Given the description of an element on the screen output the (x, y) to click on. 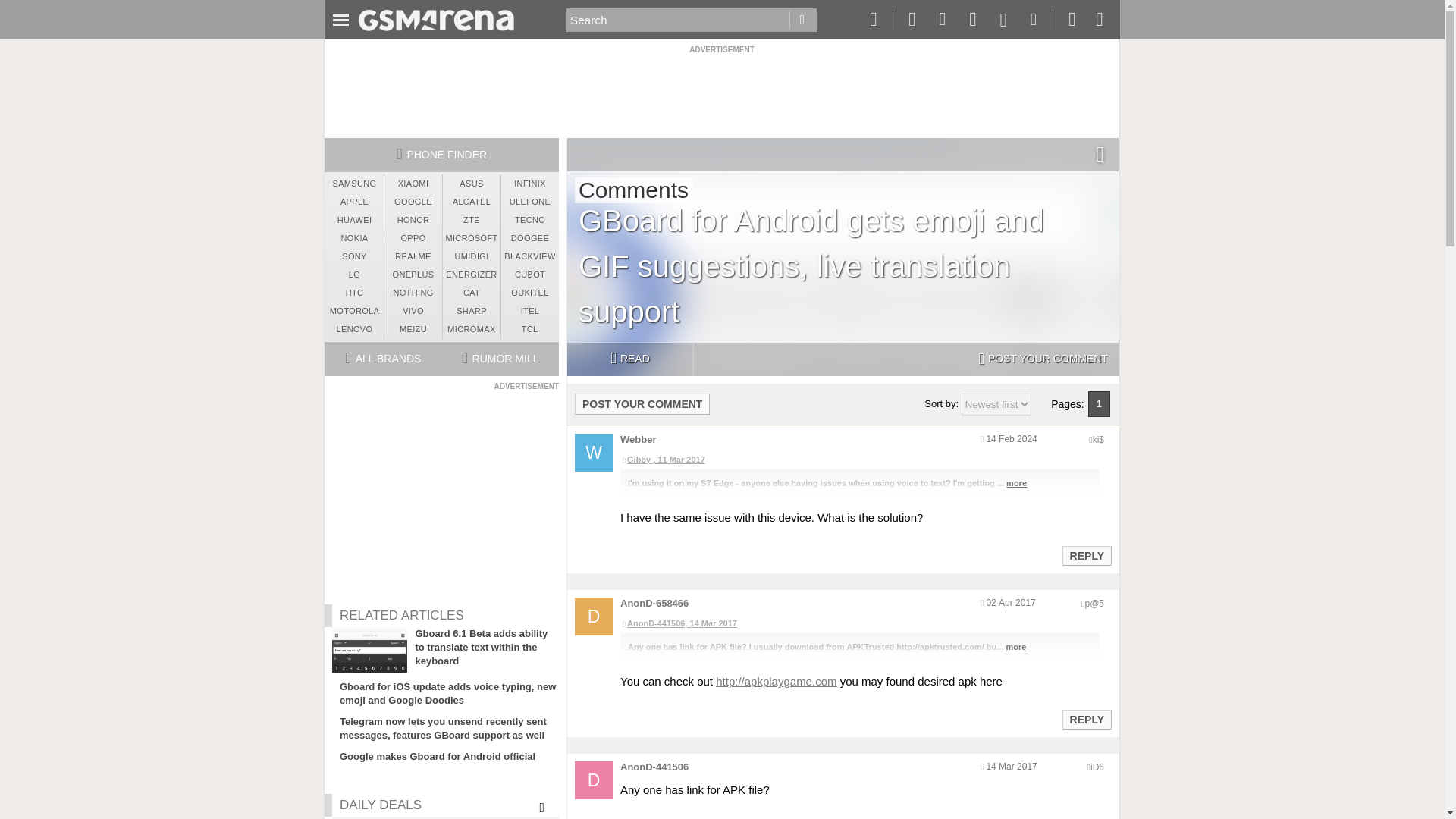
Encoded anonymized location (1096, 767)
POST YOUR COMMENT (1042, 359)
Sort comments by (995, 404)
REPLY (1086, 719)
Go (802, 19)
more (1016, 482)
Encoded anonymized location (1098, 439)
Gibby , 11 Mar 2017 (859, 459)
READ (630, 359)
Reply to this post (1086, 555)
POST YOUR COMMENT (642, 403)
AnonD-441506, 14 Mar 2017 (859, 623)
more (1016, 646)
Reply to this post (1086, 719)
REPLY (1086, 556)
